Given the description of an element on the screen output the (x, y) to click on. 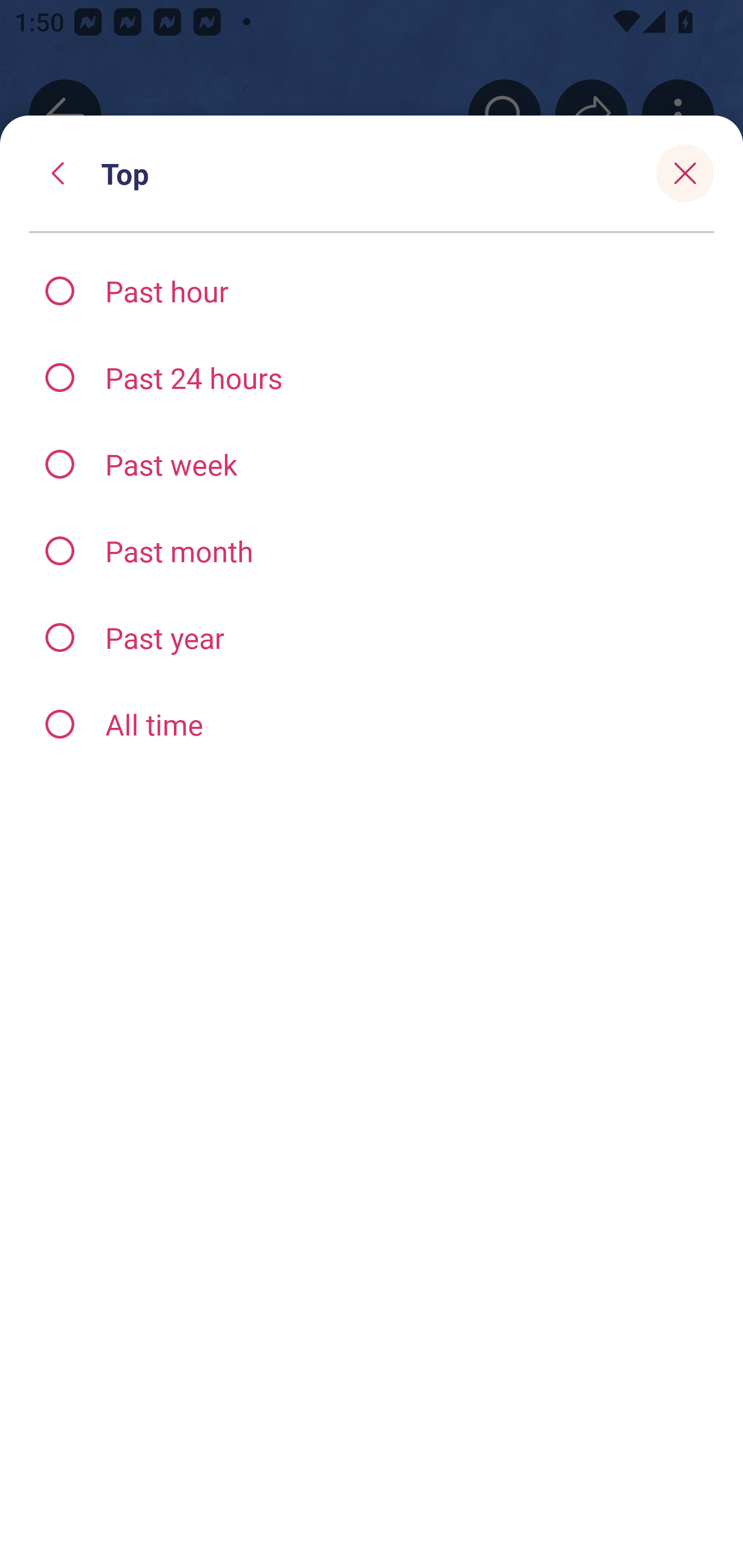
Close sheet (684, 173)
Past hour (371, 290)
Past 24 hours (371, 376)
Past week (371, 464)
Past month (371, 551)
Past year (371, 637)
All time (371, 723)
